Given the description of an element on the screen output the (x, y) to click on. 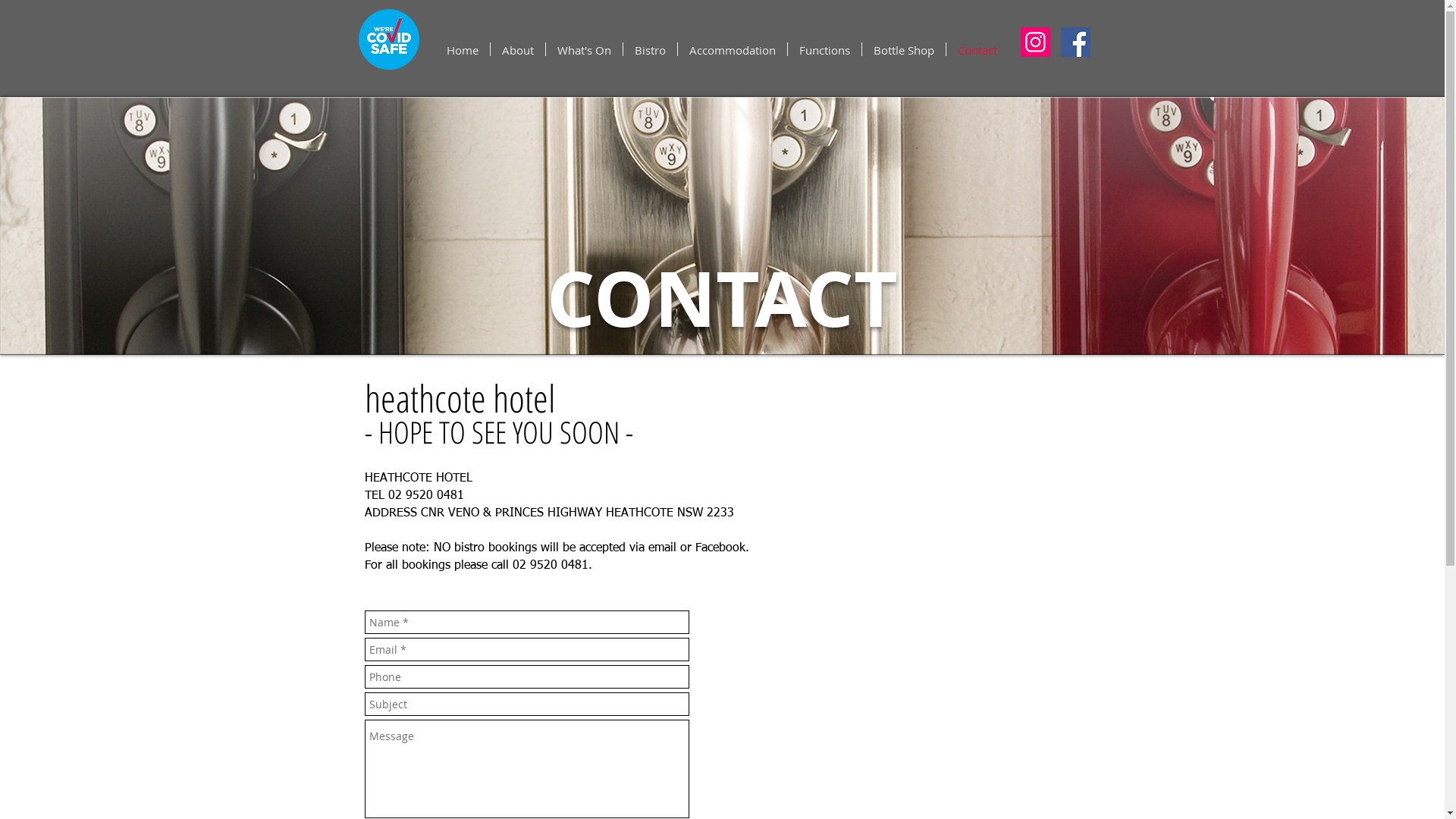
Bistro Element type: text (650, 49)
About Element type: text (517, 49)
Bottle Shop Element type: text (903, 49)
Home Element type: text (462, 49)
Contact Element type: text (977, 49)
What's On Element type: text (584, 49)
Functions Element type: text (824, 49)
Accommodation Element type: text (732, 49)
